Given the description of an element on the screen output the (x, y) to click on. 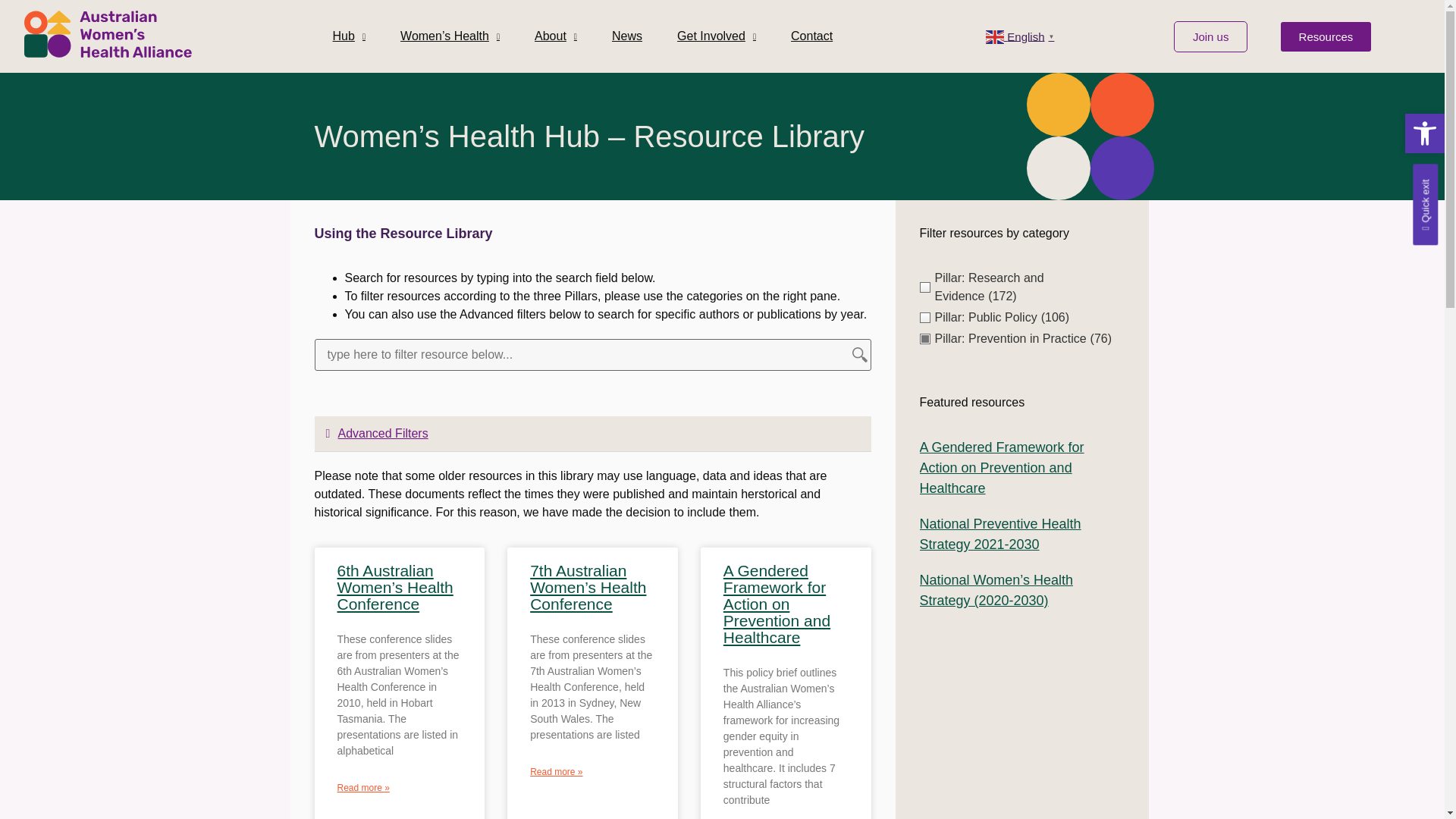
Hub (349, 36)
About (555, 36)
News (626, 36)
Get Involved (716, 36)
Contact (811, 36)
Accessibility Tools (1424, 133)
